Given the description of an element on the screen output the (x, y) to click on. 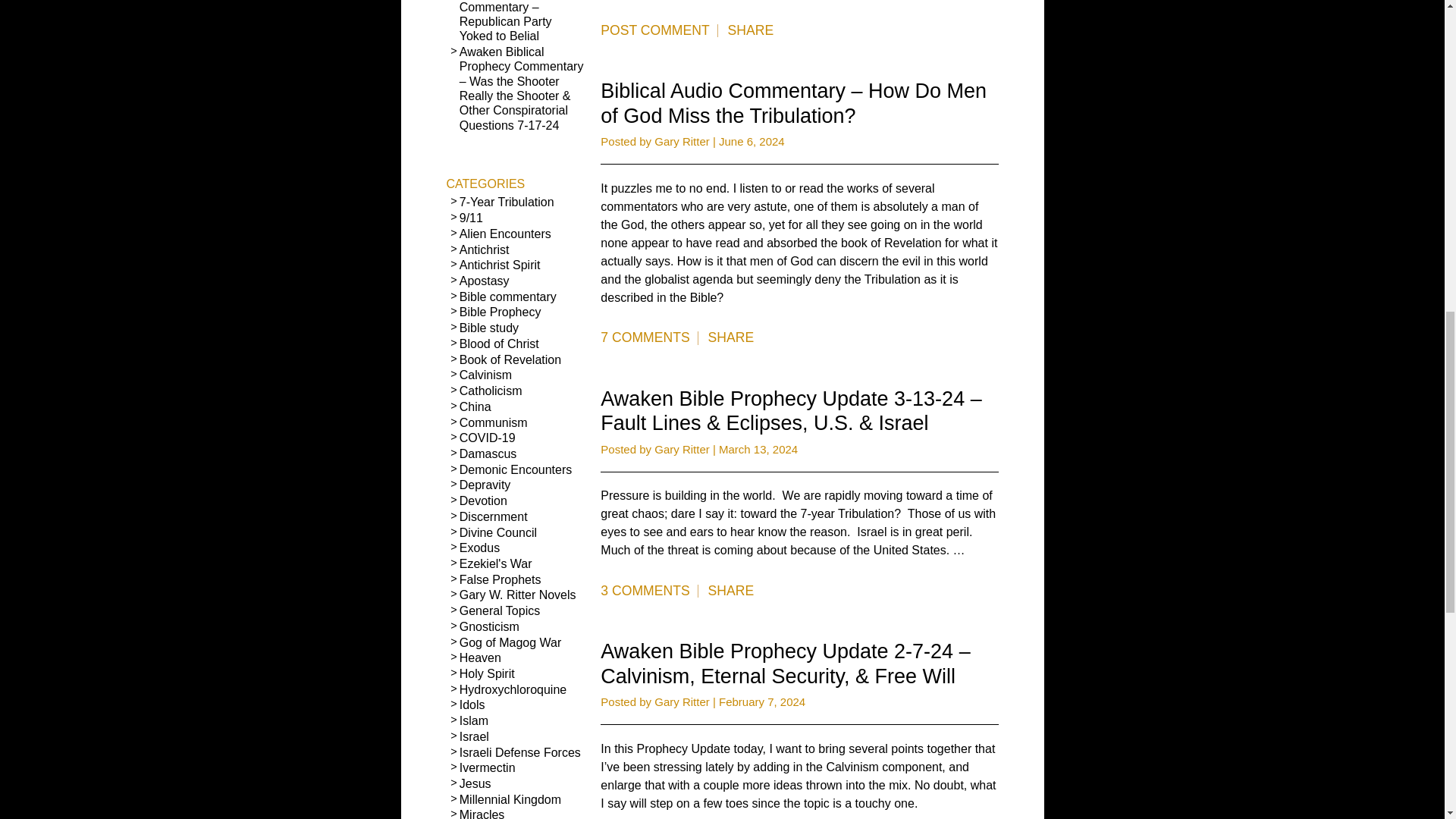
SHARE (751, 30)
POST COMMENT (658, 30)
